Given the description of an element on the screen output the (x, y) to click on. 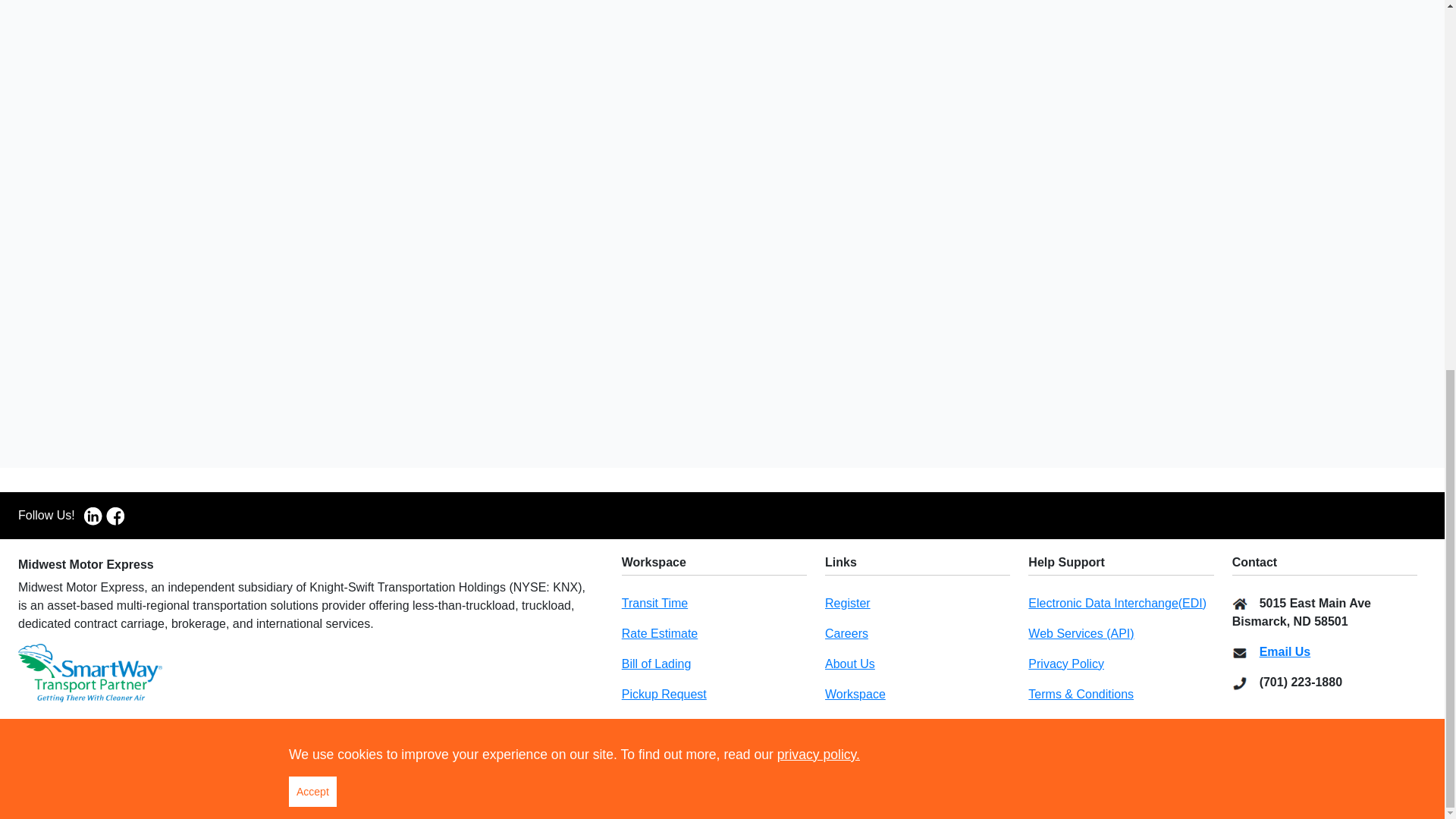
Transit Time (654, 603)
Register (847, 603)
Rate Estimate (659, 633)
Privacy Policy (1065, 663)
Careers (846, 633)
Accept (312, 119)
Pickup Request (663, 694)
About Us (850, 663)
privacy policy. (818, 81)
Workspace (855, 694)
